Given the description of an element on the screen output the (x, y) to click on. 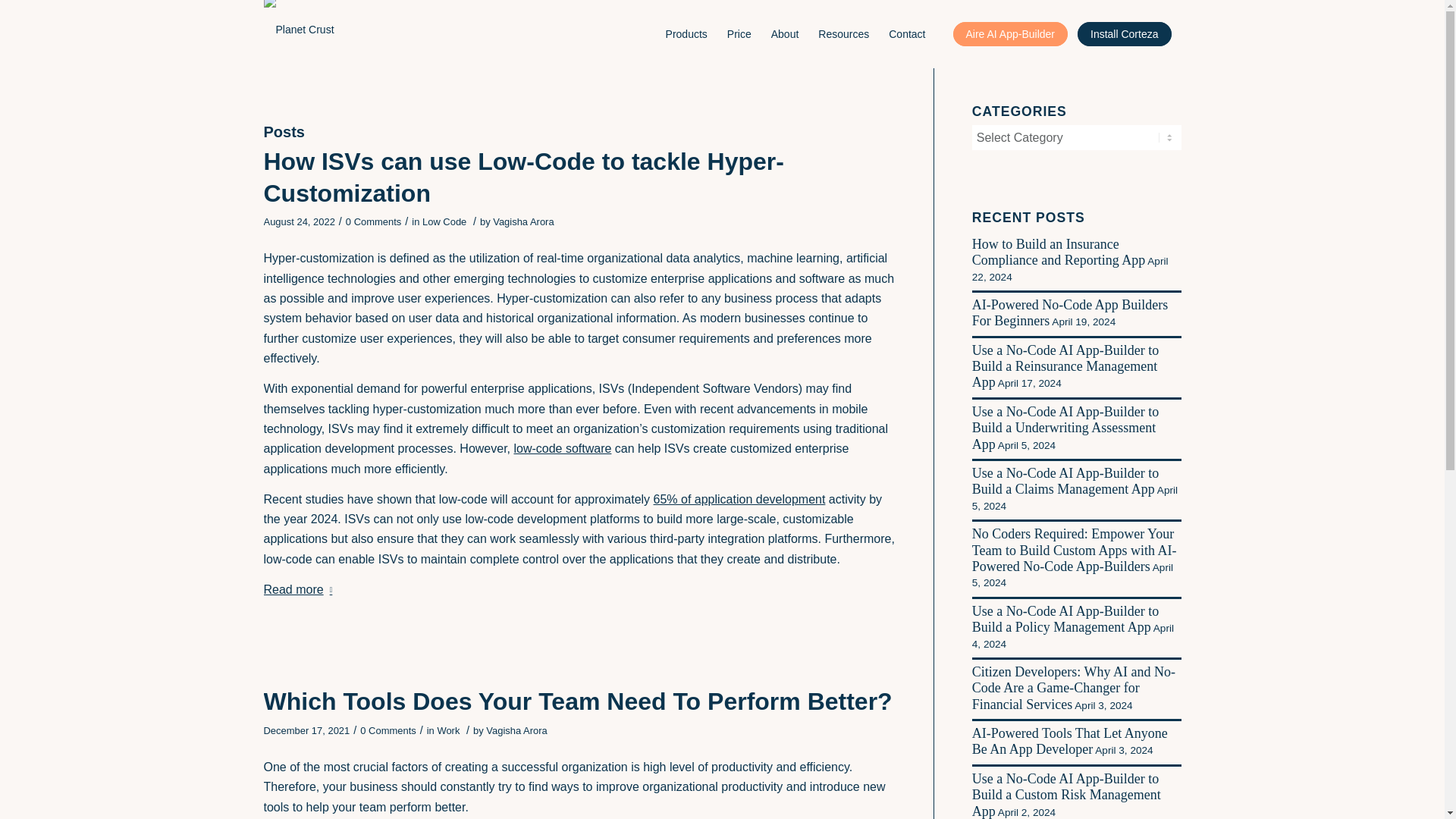
AI-Powered No-Code App Builders For Beginners (1069, 312)
0 Comments (373, 221)
low-code software (562, 448)
Read more (301, 589)
How to Build an Insurance Compliance and Reporting App (1058, 251)
Products (686, 33)
Install Corteza (1125, 33)
Vagisha Arora (523, 221)
Install Corteza (1125, 33)
